Given the description of an element on the screen output the (x, y) to click on. 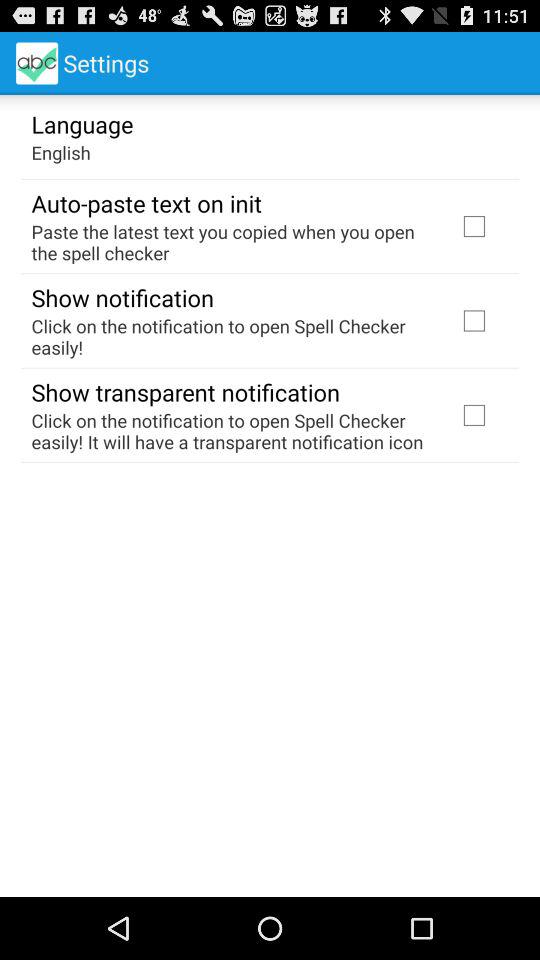
tap language item (82, 123)
